Given the description of an element on the screen output the (x, y) to click on. 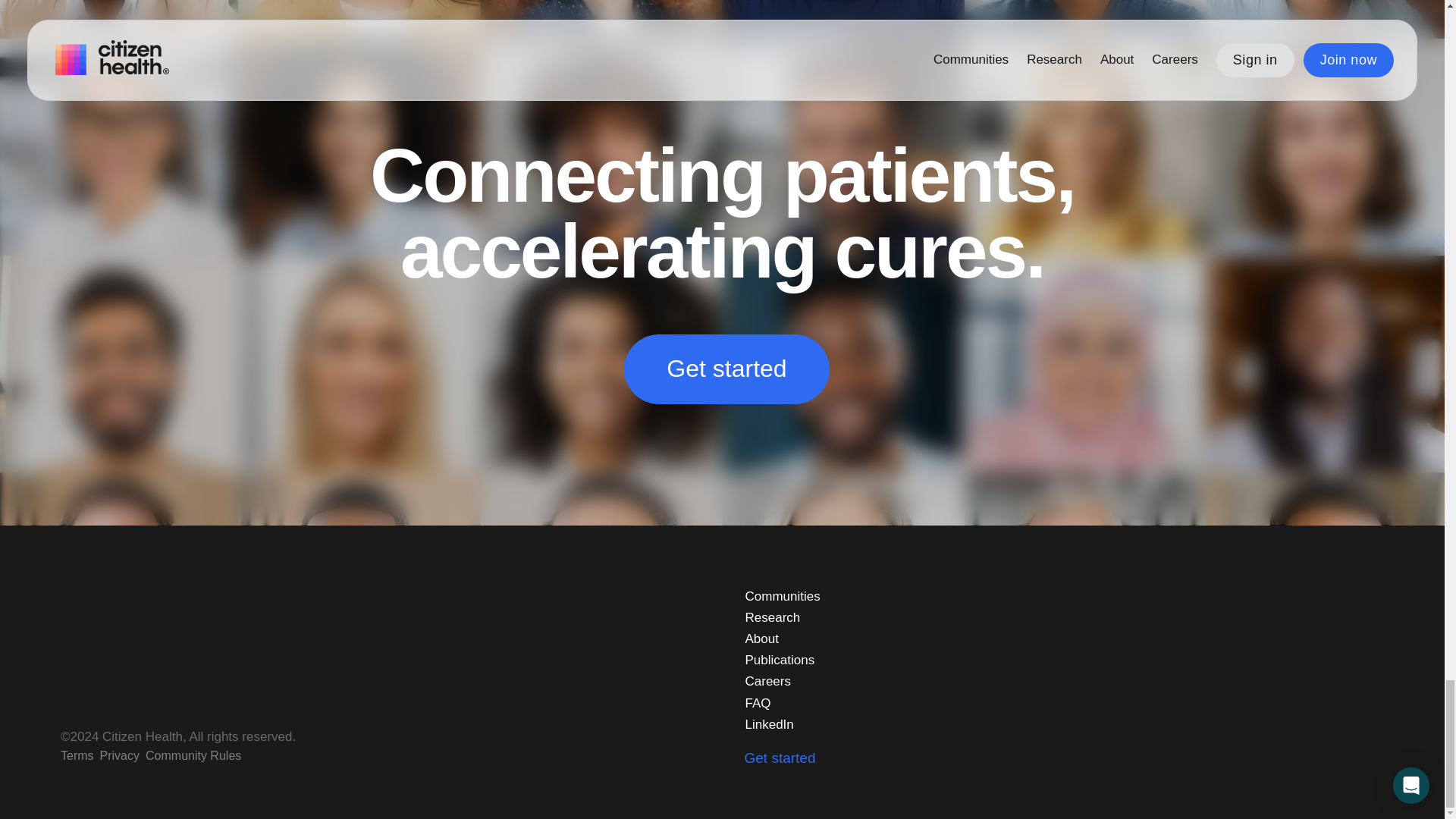
Research (771, 617)
Get started (726, 368)
FAQ (757, 703)
Communities (781, 596)
Careers (767, 681)
Publications (778, 660)
Privacy (119, 756)
About (760, 639)
Community Rules (193, 756)
Terms (77, 756)
Get started (779, 757)
LinkedIn (768, 724)
